Given the description of an element on the screen output the (x, y) to click on. 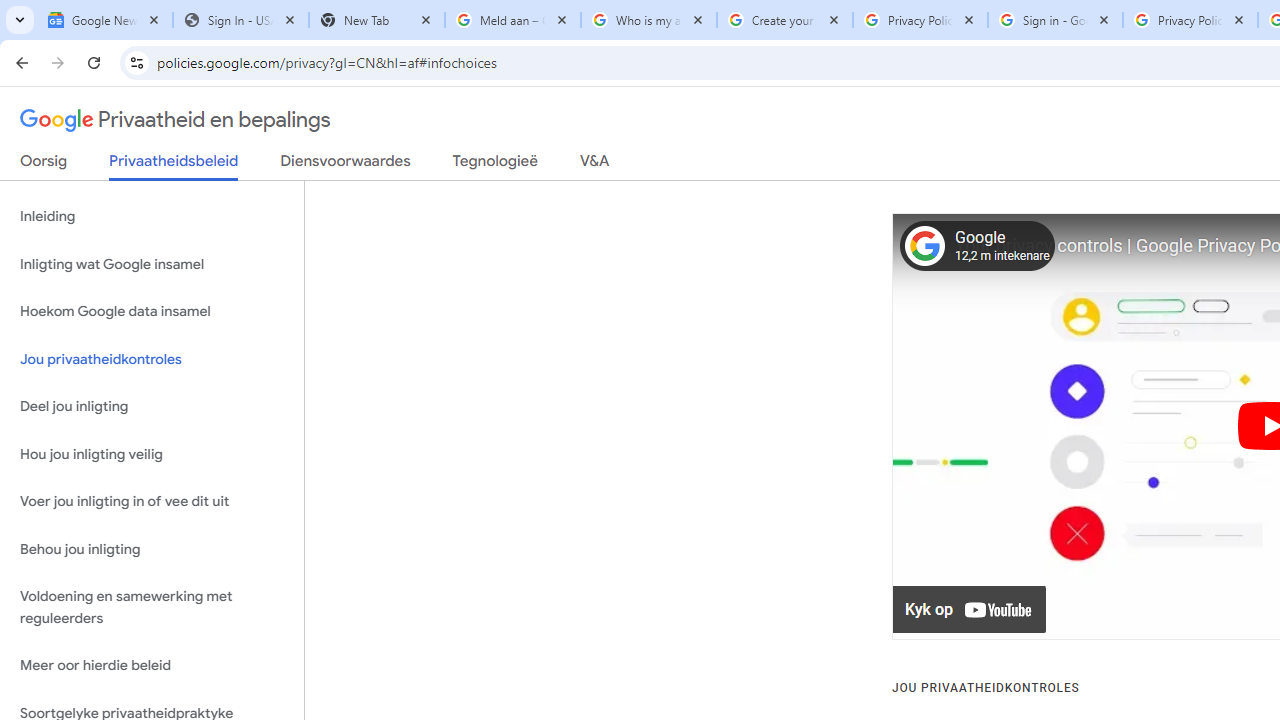
Diensvoorwaardes (345, 165)
Deel jou inligting (152, 407)
V&A (594, 165)
Meer oor hierdie beleid (152, 666)
